Given the description of an element on the screen output the (x, y) to click on. 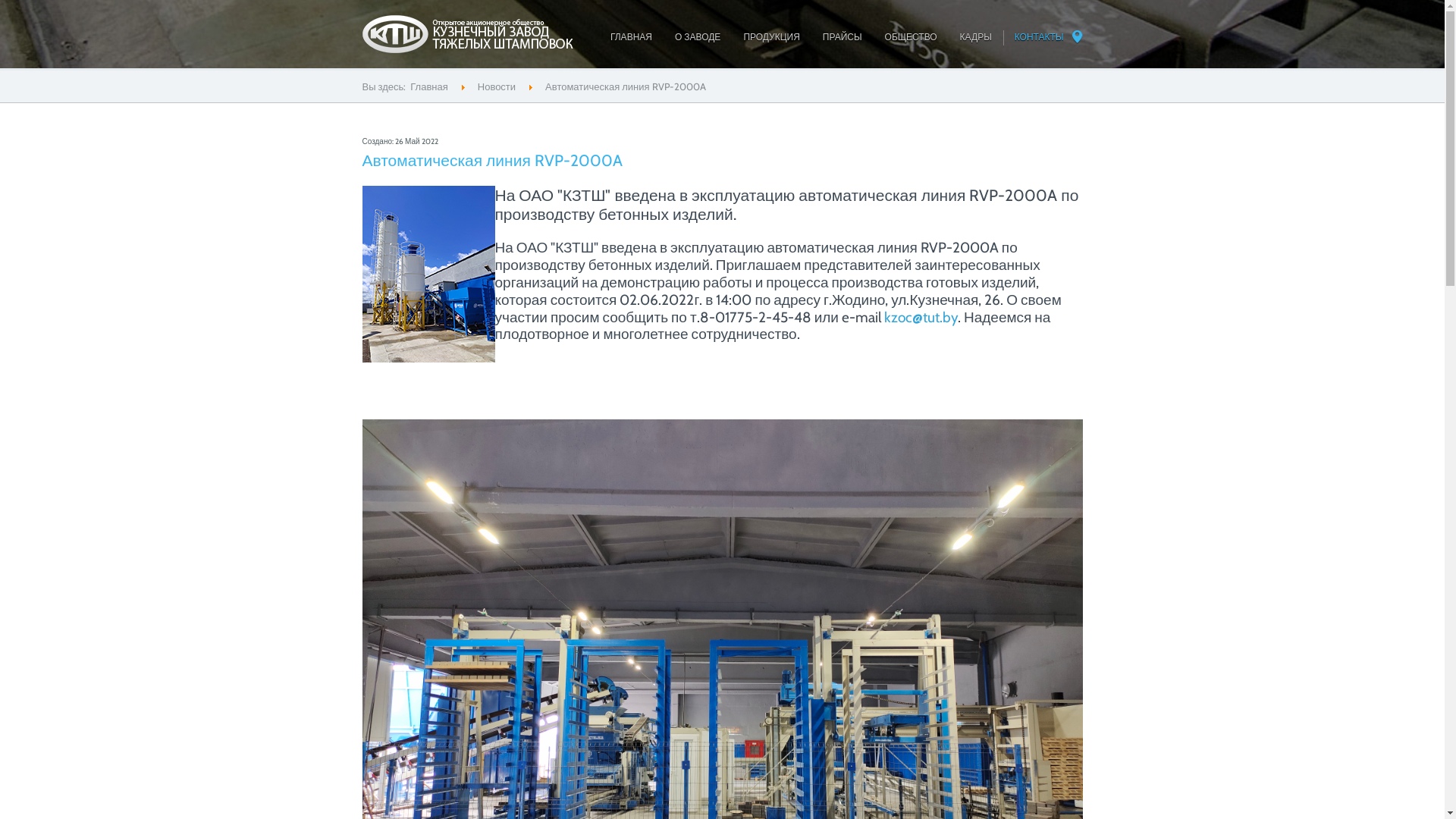
kzoc@tut.by Element type: text (920, 317)
